Given the description of an element on the screen output the (x, y) to click on. 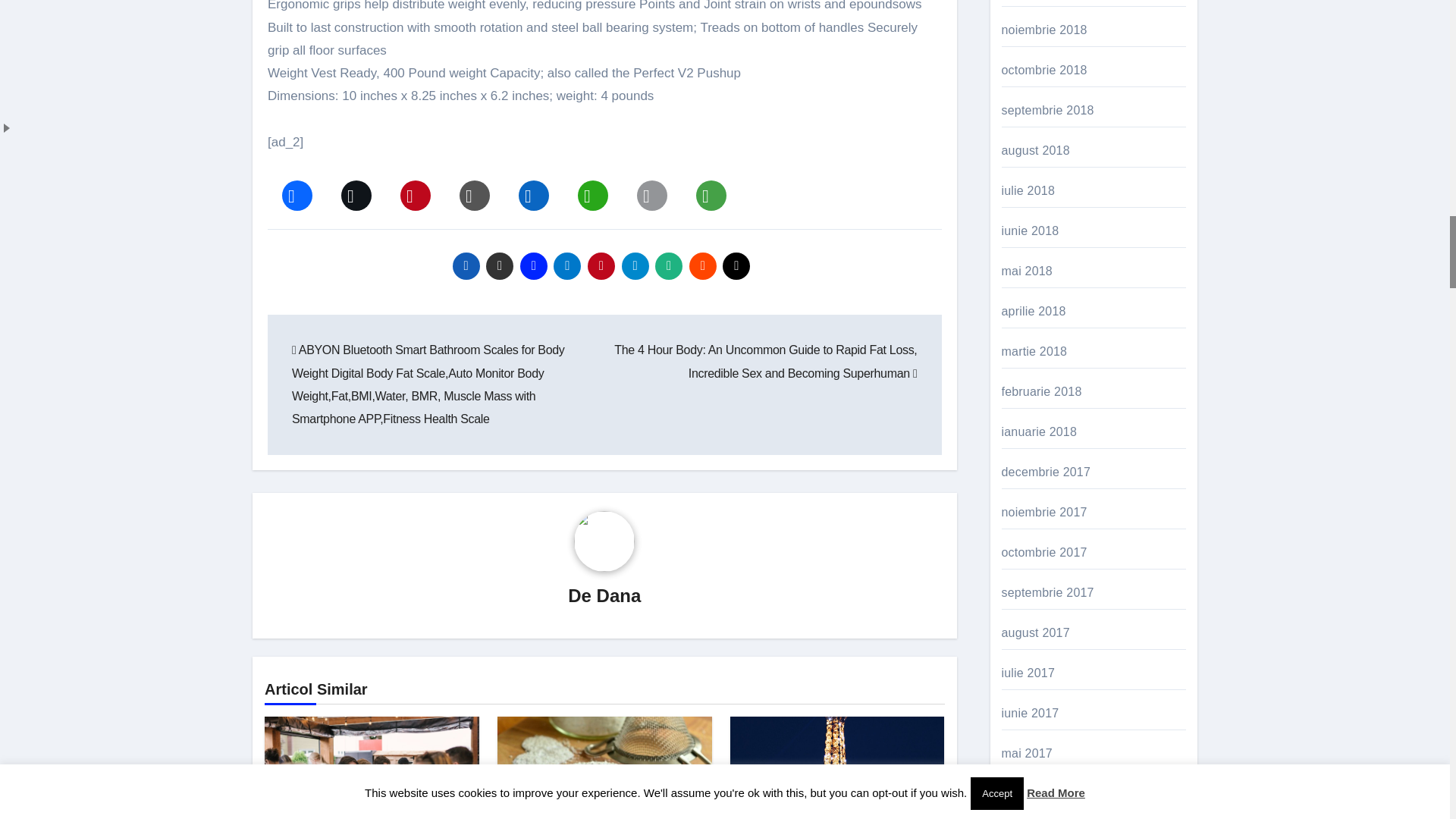
More Options (711, 189)
Facebook (296, 189)
Copy Link (474, 189)
Email This (652, 189)
LinkedIn (533, 189)
Pinterest (415, 189)
WhatsApp (593, 189)
